Given the description of an element on the screen output the (x, y) to click on. 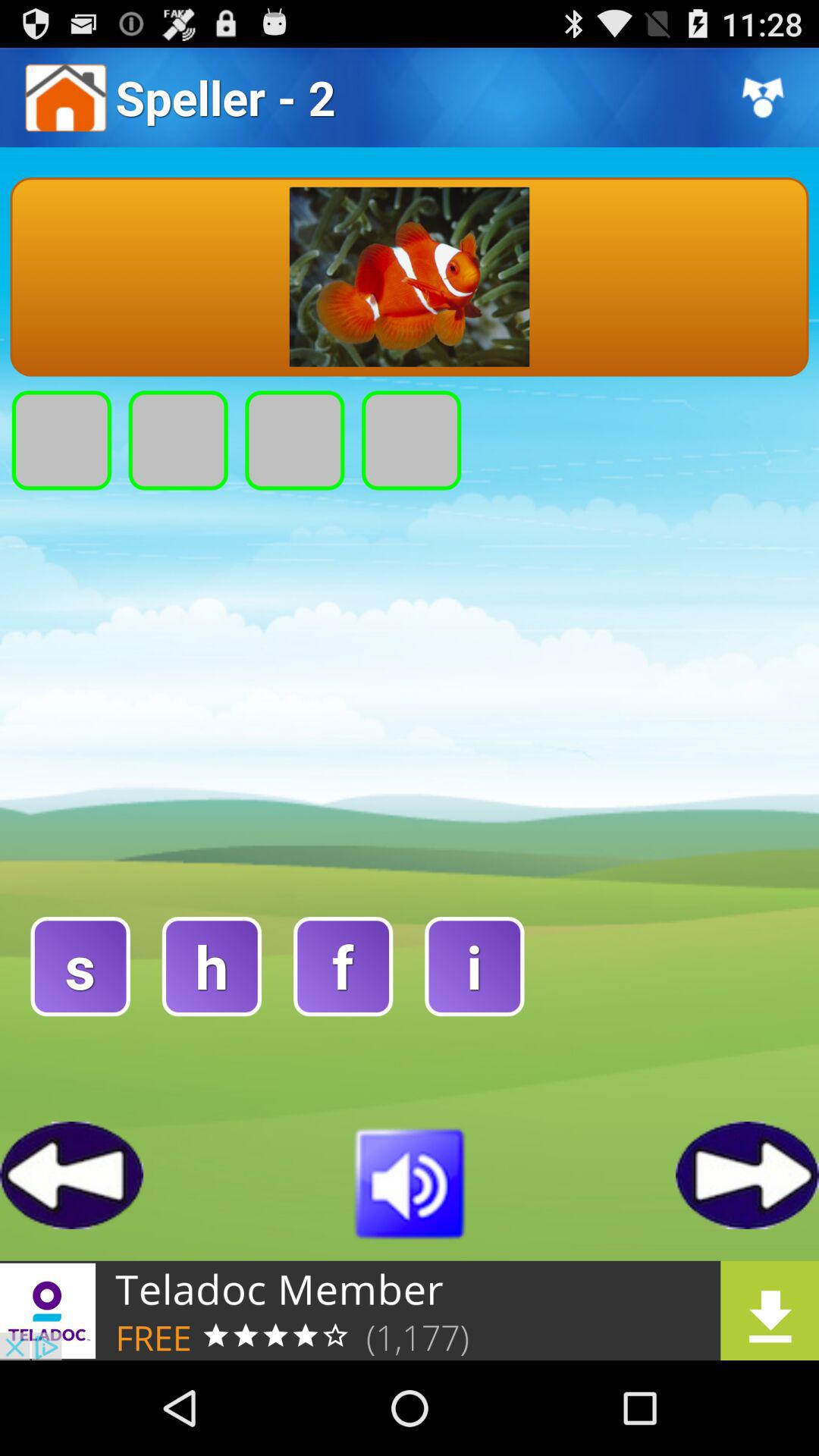
go back (71, 1175)
